Given the description of an element on the screen output the (x, y) to click on. 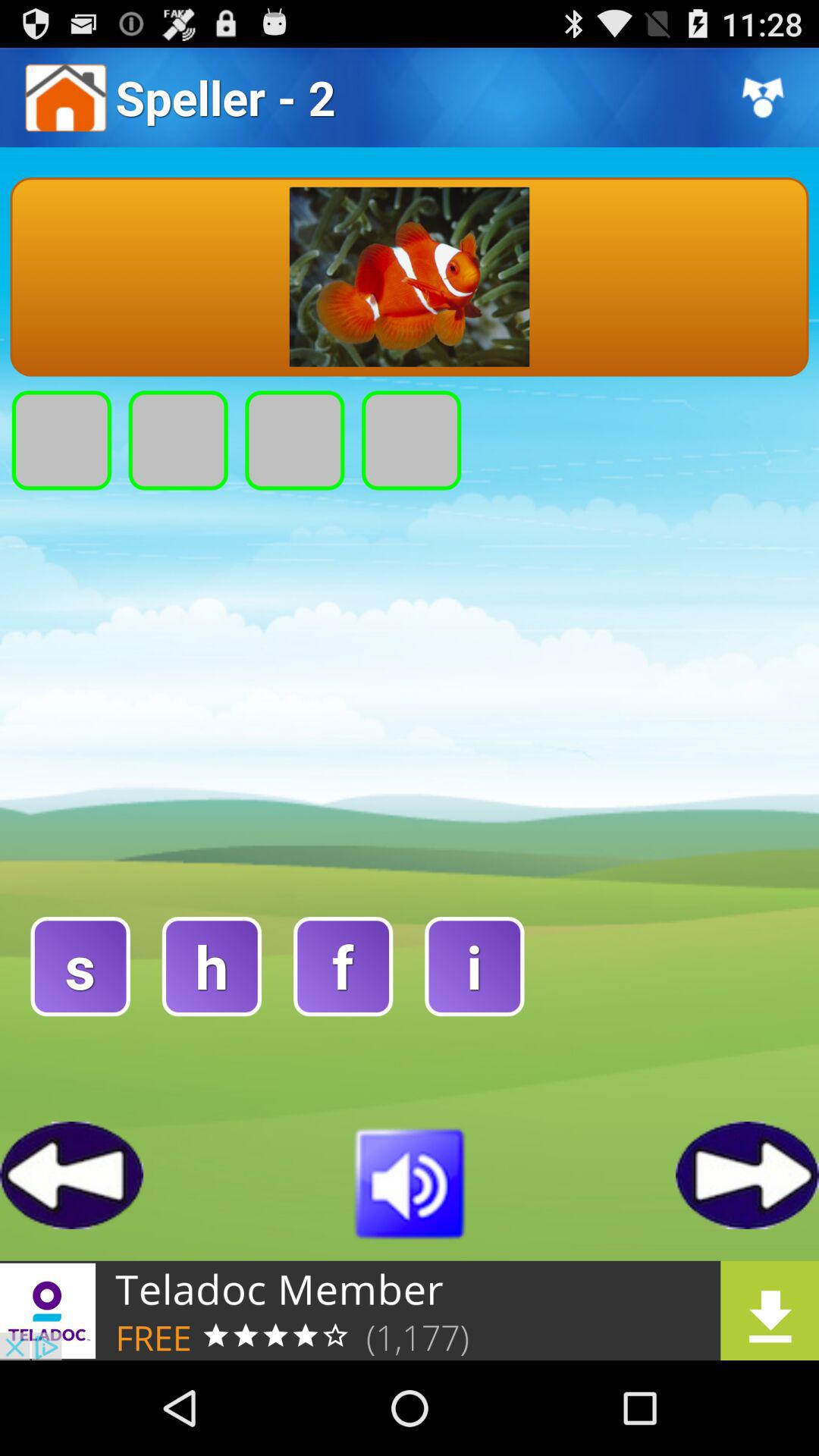
go back (71, 1175)
